Given the description of an element on the screen output the (x, y) to click on. 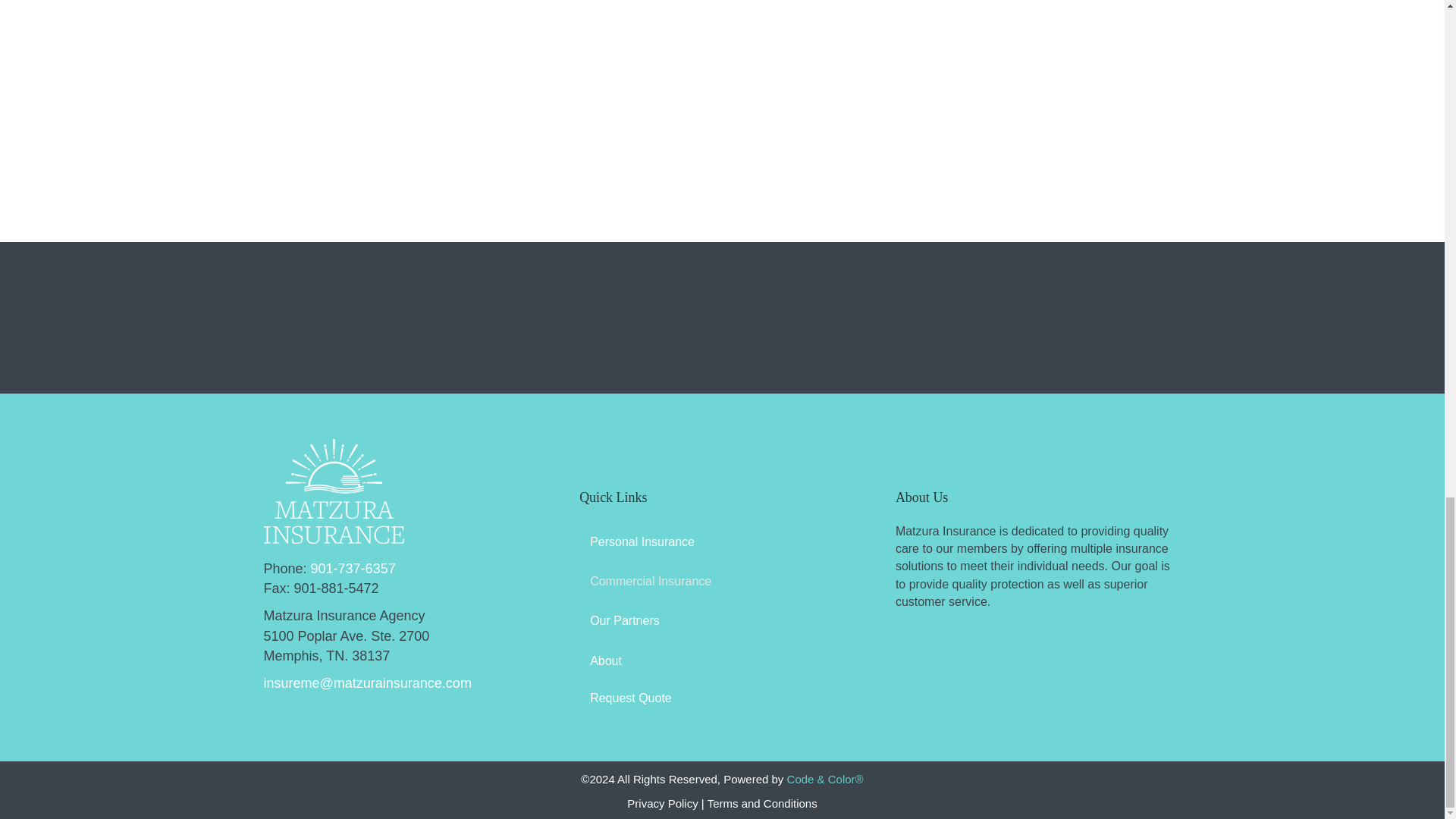
Personal Insurance (721, 541)
901-737-6357 (353, 568)
About (721, 660)
Terms and Conditions (761, 802)
Privacy Policy (662, 802)
Request Quote (630, 697)
Our Partners (721, 620)
Commercial Insurance (721, 580)
